Given the description of an element on the screen output the (x, y) to click on. 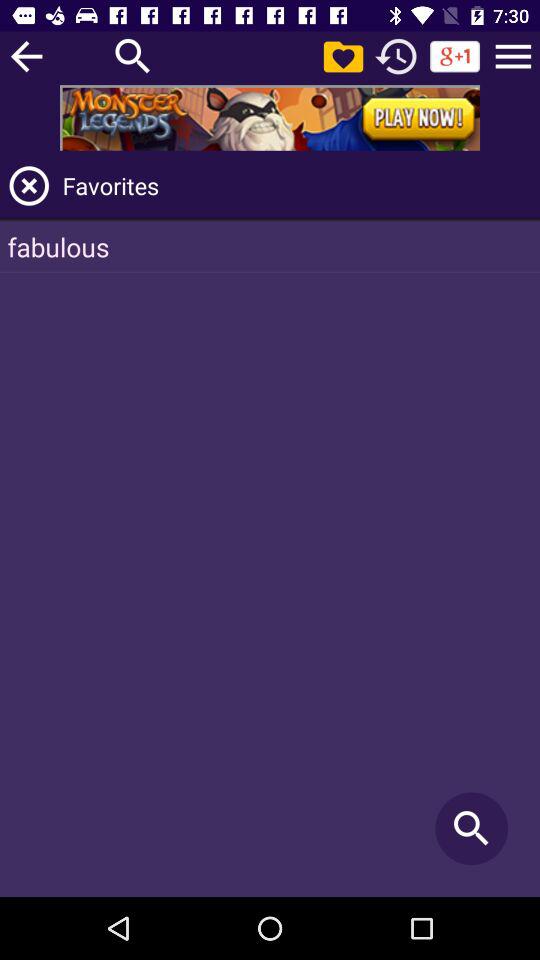
rewind (396, 56)
